Given the description of an element on the screen output the (x, y) to click on. 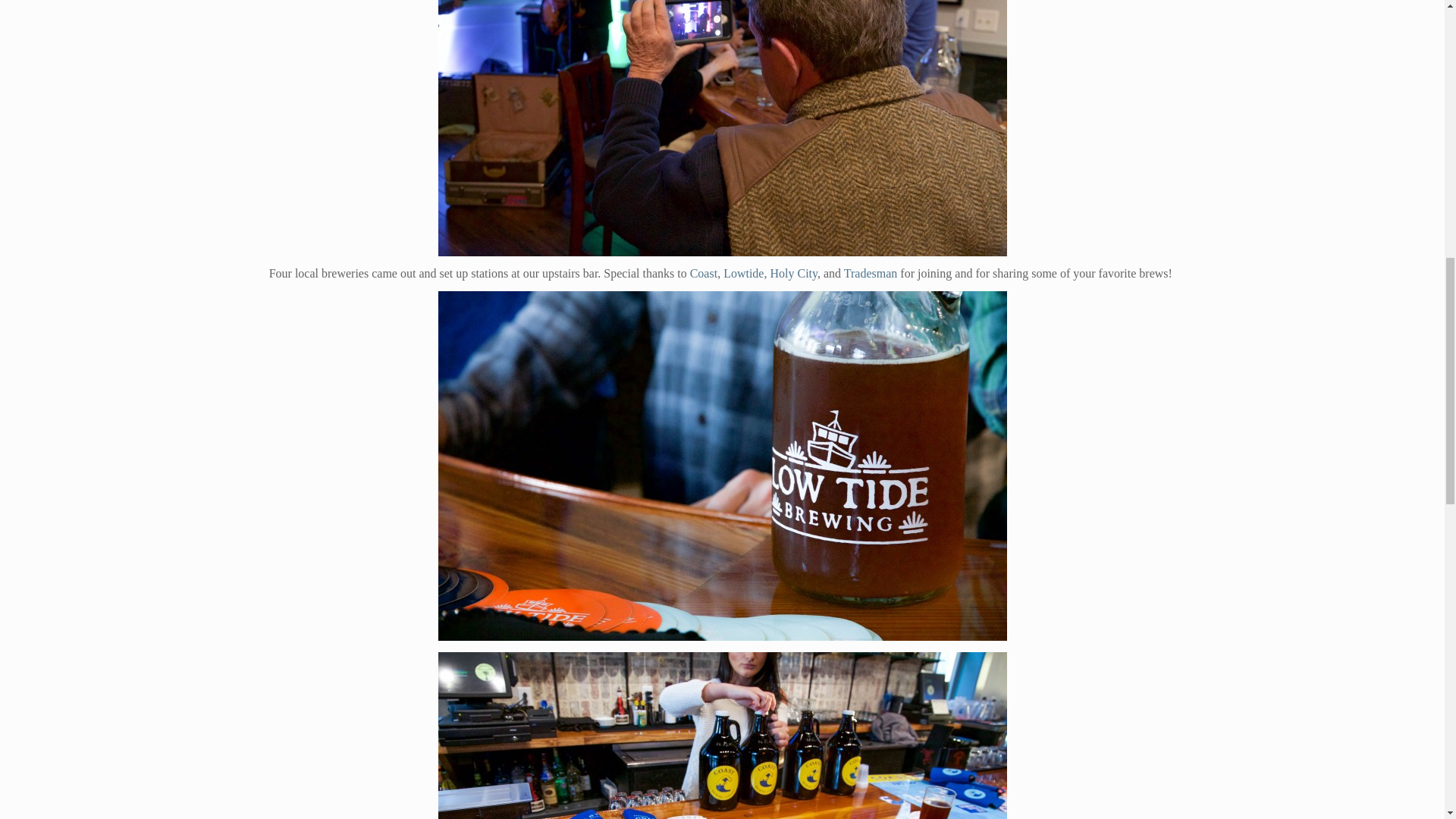
Tradesman (871, 273)
Holy City (793, 273)
Coast (703, 273)
Lowtide (742, 273)
